Given the description of an element on the screen output the (x, y) to click on. 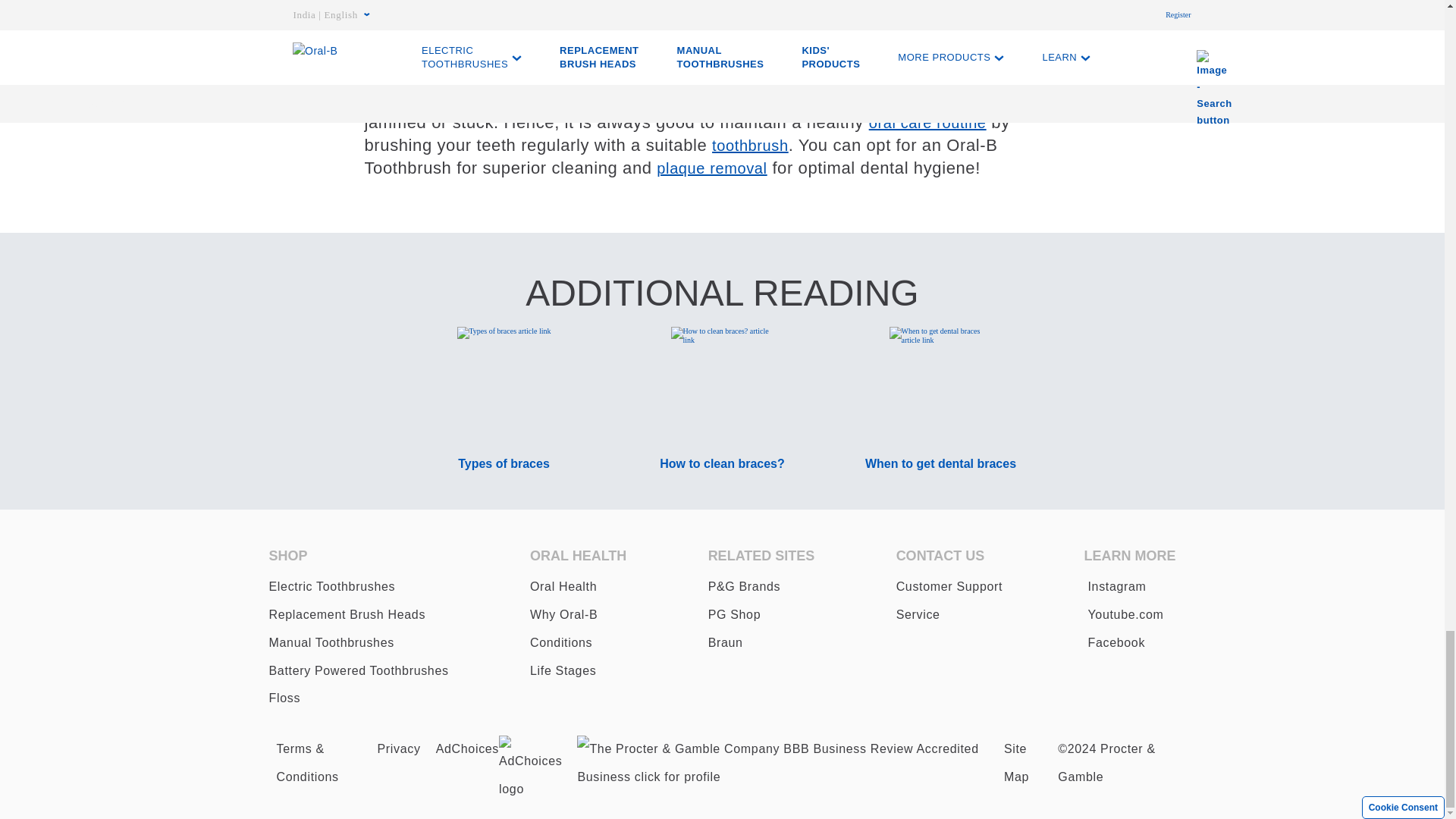
toothbrush (750, 145)
oral care routine (928, 122)
plaque removal (711, 167)
